Given the description of an element on the screen output the (x, y) to click on. 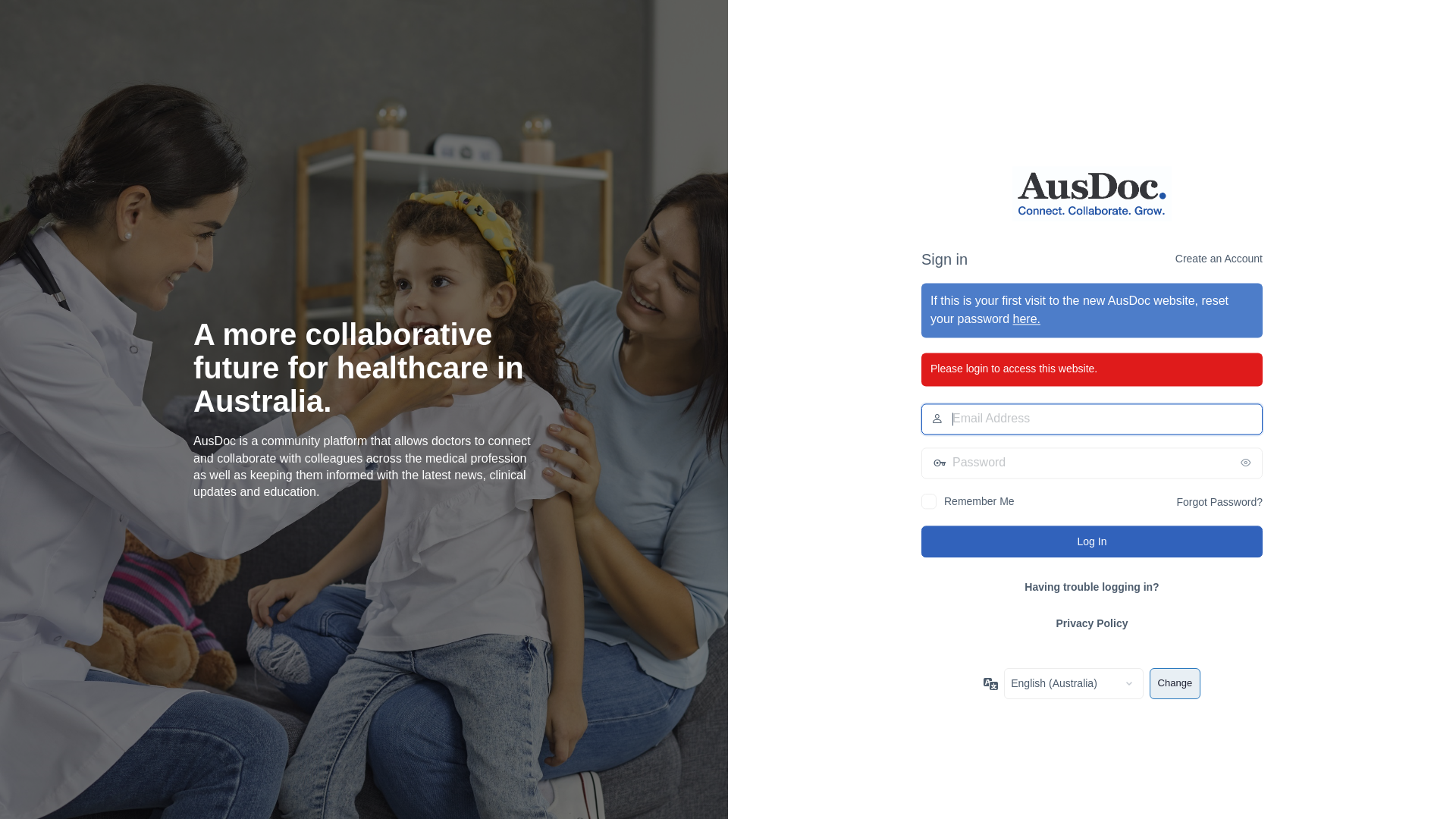
here. Element type: text (1026, 319)
Change Element type: text (1175, 683)
Having trouble logging in? Element type: text (1091, 586)
Privacy Policy Element type: text (1092, 623)
Forgot Password? Element type: text (1219, 501)
Create an Account Element type: text (1218, 259)
Log In Element type: text (1091, 541)
